Given the description of an element on the screen output the (x, y) to click on. 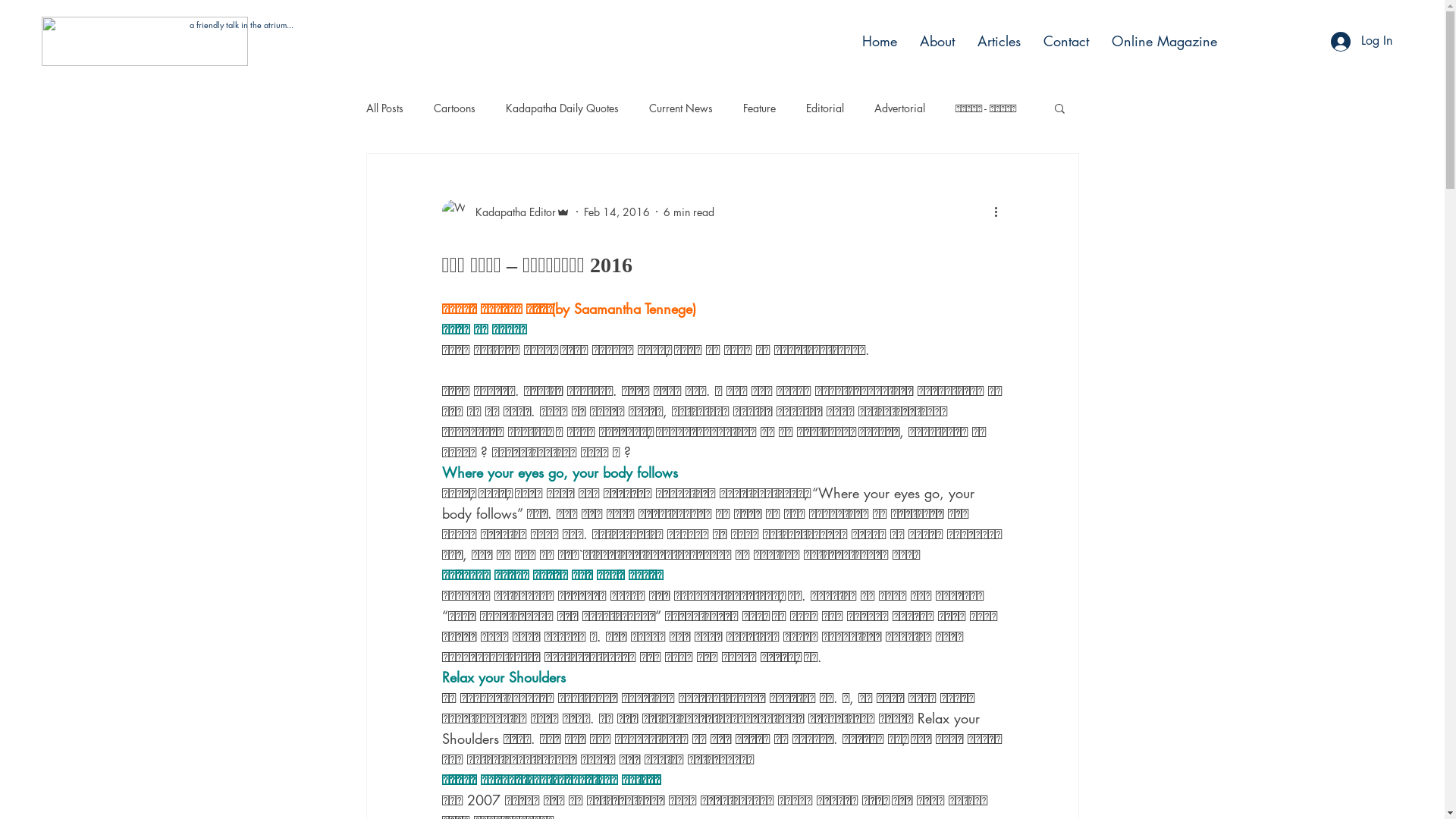
Editorial Element type: text (824, 107)
Articles Element type: text (999, 40)
Contact Element type: text (1066, 40)
Online Magazine Element type: text (1164, 40)
About Element type: text (937, 40)
Current News Element type: text (680, 107)
Kadapatha Daily Quotes Element type: text (561, 107)
Cartoons Element type: text (454, 107)
Kadapatha Editor Element type: text (505, 211)
Home Element type: text (879, 40)
All Posts Element type: text (383, 107)
Log In Element type: text (1361, 41)
Advertorial Element type: text (898, 107)
Feature Element type: text (759, 107)
kadapatha_logo_white_bg.png Element type: hover (144, 40)
